Given the description of an element on the screen output the (x, y) to click on. 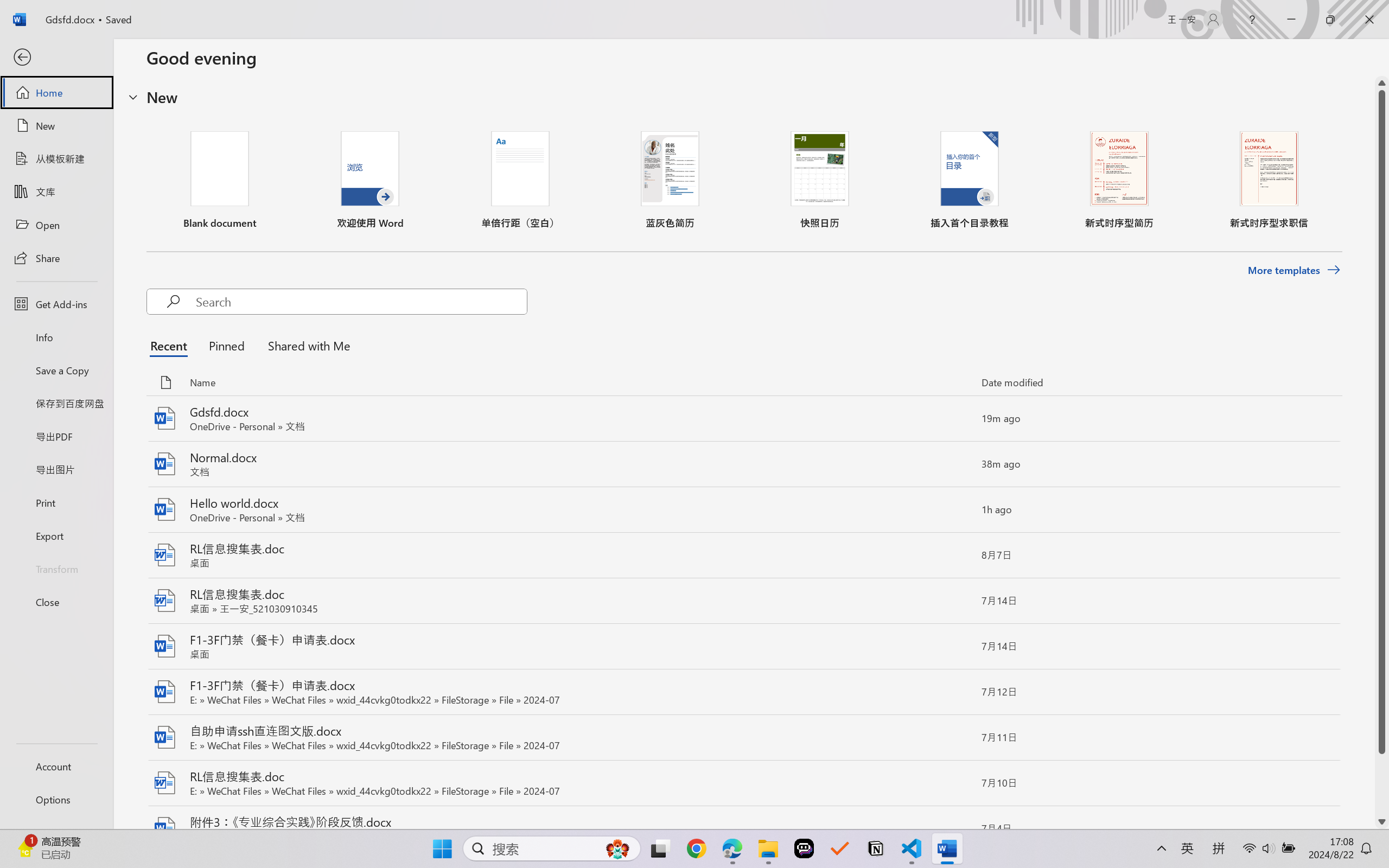
Rename (80, 62)
Record your presentations screenshot one (1265, 719)
Master Layout... (120, 62)
Footers (192, 71)
Insert Slide Master (20, 62)
Slide Size (406, 62)
